Given the description of an element on the screen output the (x, y) to click on. 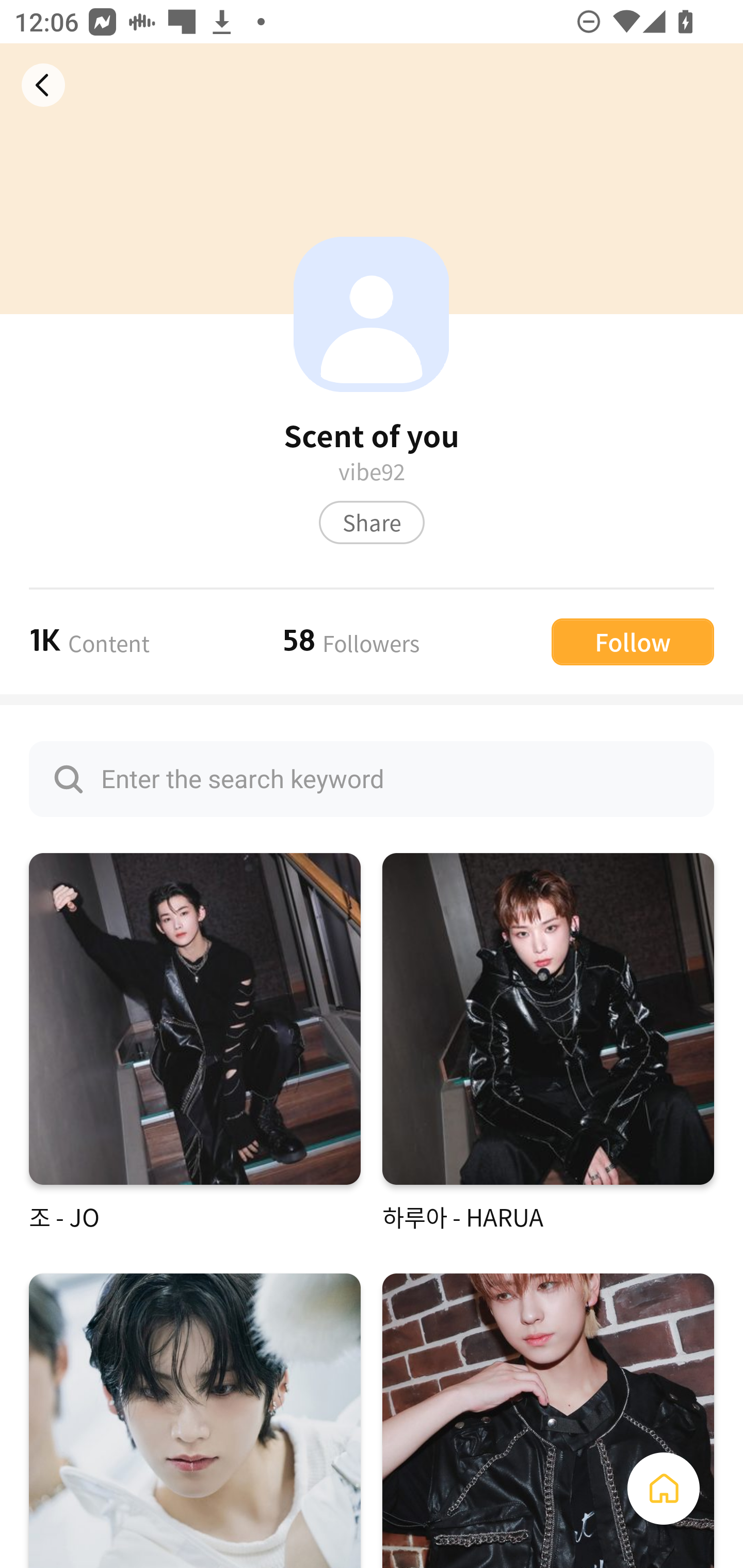
Share (371, 522)
Follow (632, 640)
Enter the search keyword (371, 778)
조  -  JO (194, 1043)
하루아  -  HARUA (548, 1043)
